Given the description of an element on the screen output the (x, y) to click on. 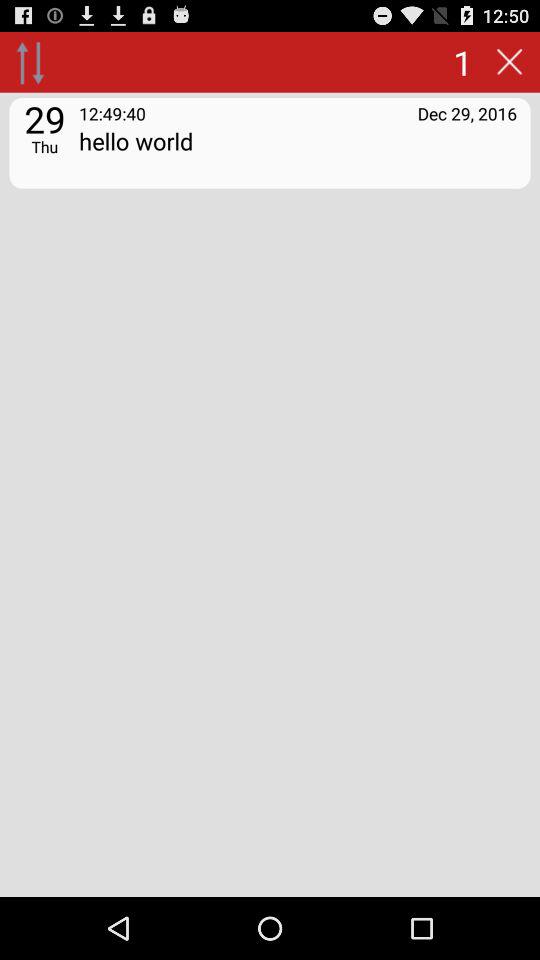
close window (509, 61)
